Given the description of an element on the screen output the (x, y) to click on. 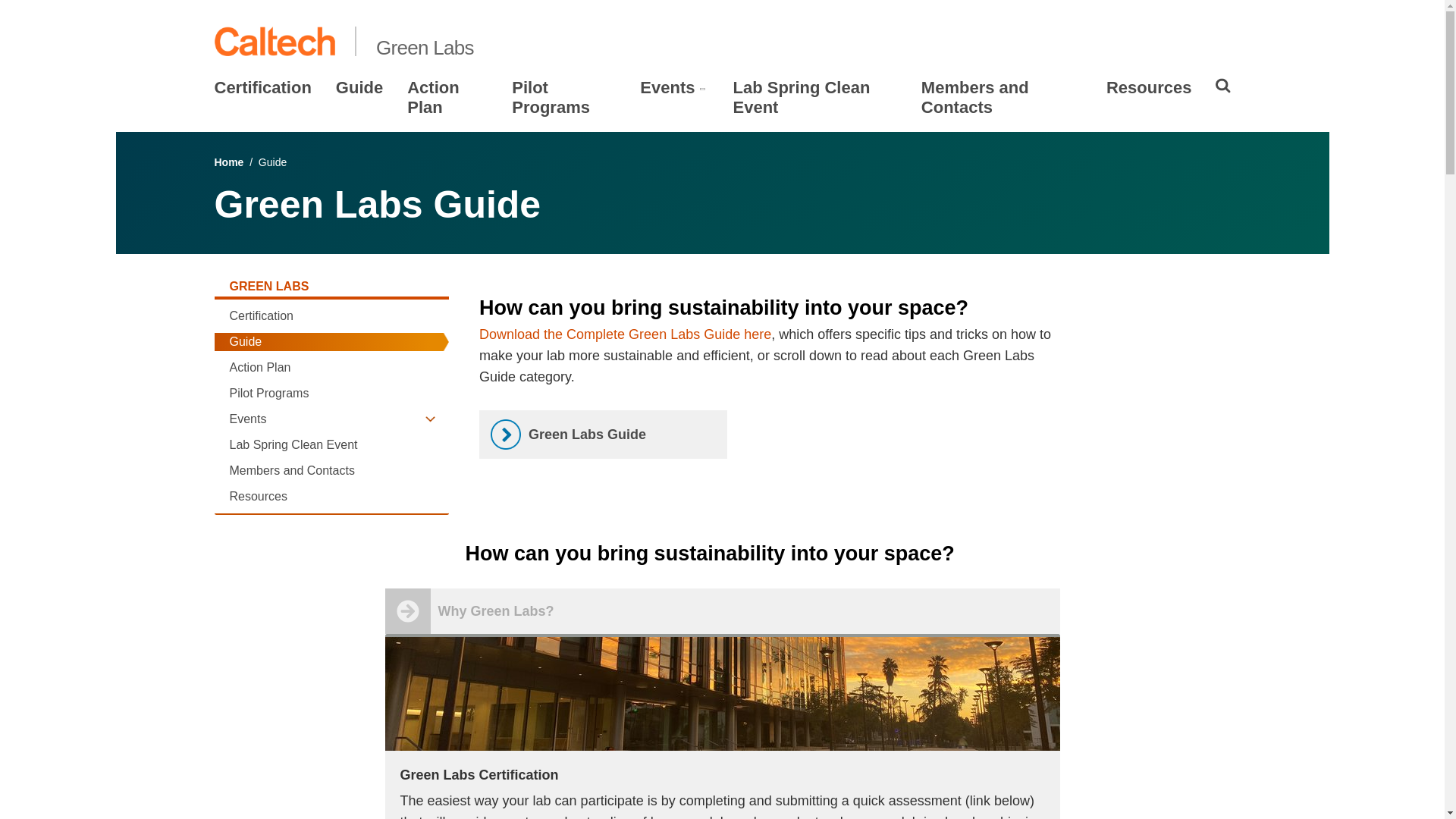
Certification (262, 87)
Events (667, 87)
Pilot Programs (324, 393)
Green Labs (424, 47)
Members and Contacts (1001, 97)
Guide (359, 87)
Pilot Programs (563, 97)
Resources (1149, 87)
Action Plan (324, 367)
Guide (324, 341)
